Given the description of an element on the screen output the (x, y) to click on. 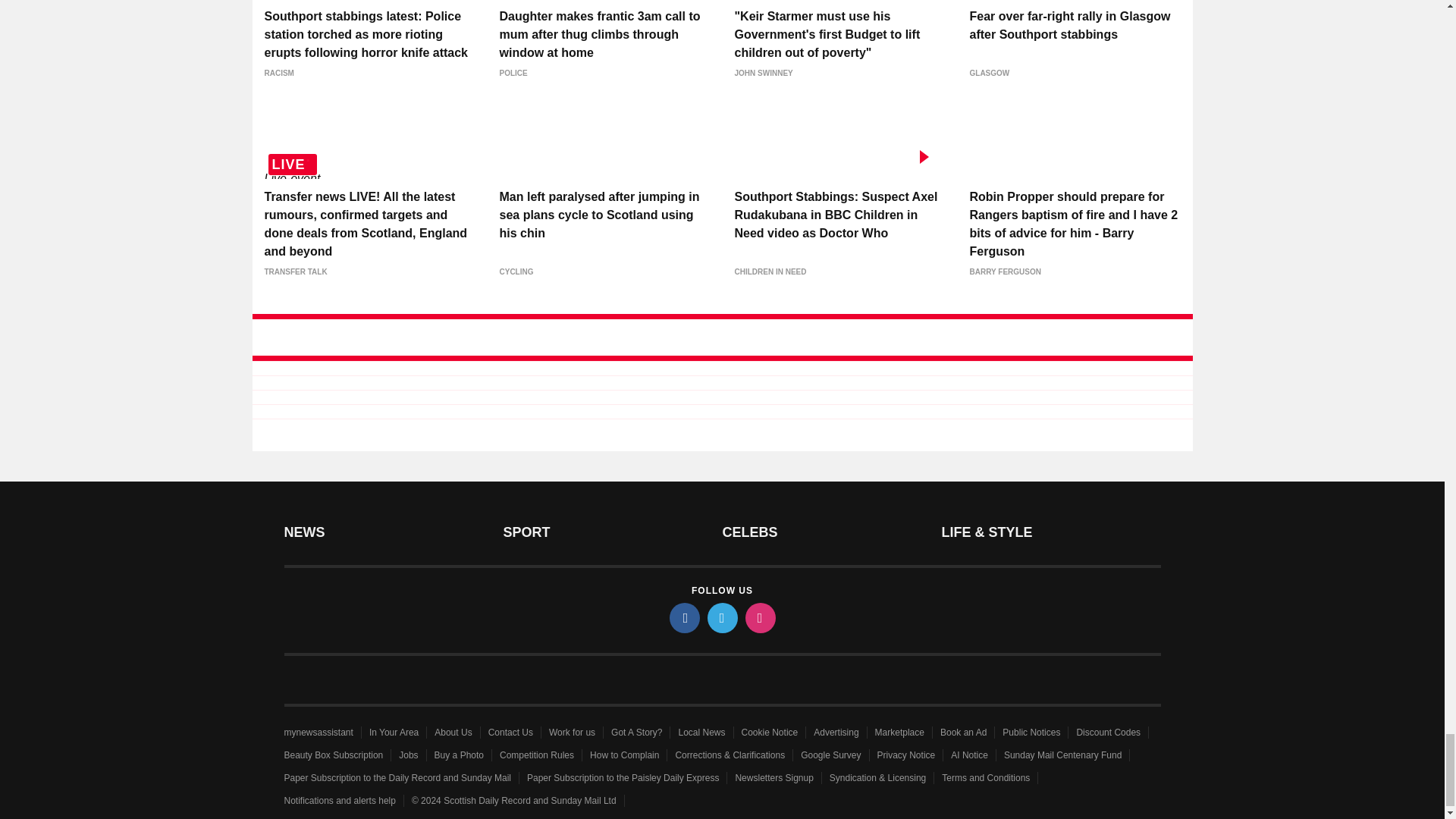
twitter (721, 617)
instagram (759, 617)
facebook (683, 617)
